Given the description of an element on the screen output the (x, y) to click on. 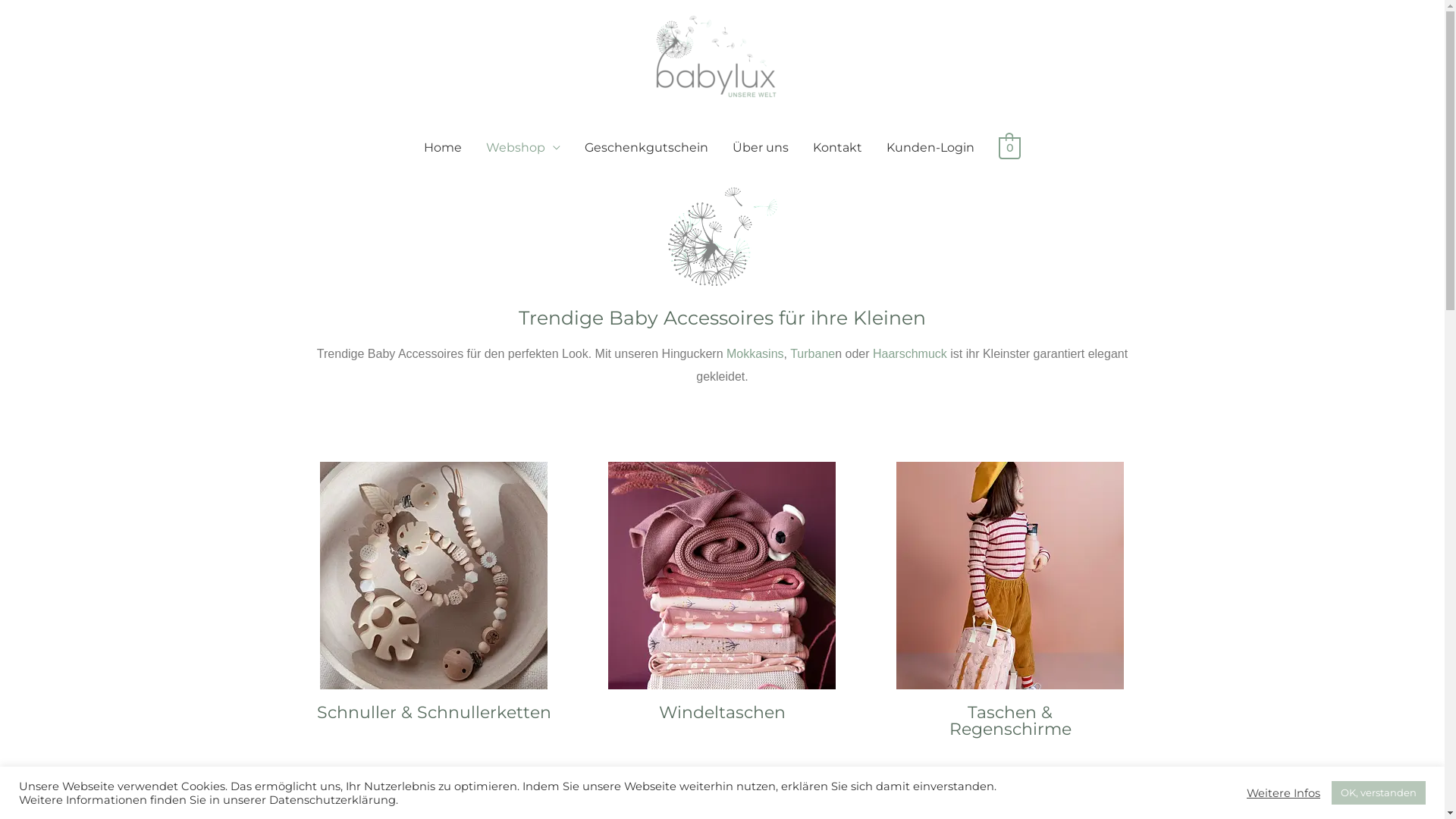
Webshop Element type: text (522, 147)
Geschenkgutschein Element type: text (646, 147)
Babylux_Windeltaschen_Fresk Element type: hover (721, 575)
Mokkasins Element type: text (755, 353)
Kontakt Element type: text (837, 147)
0 Element type: text (1009, 147)
Haarschmuck Element type: text (909, 353)
Taschen &
Regenschirme Element type: text (1010, 720)
Turbane Element type: text (812, 353)
Schnuller & Schnullerketten Element type: text (433, 712)
Weitere Infos Element type: text (1283, 792)
OK, verstanden Element type: text (1378, 792)
Windeltaschen Element type: text (721, 712)
Home Element type: text (442, 147)
Kunden-Login Element type: text (930, 147)
